Given the description of an element on the screen output the (x, y) to click on. 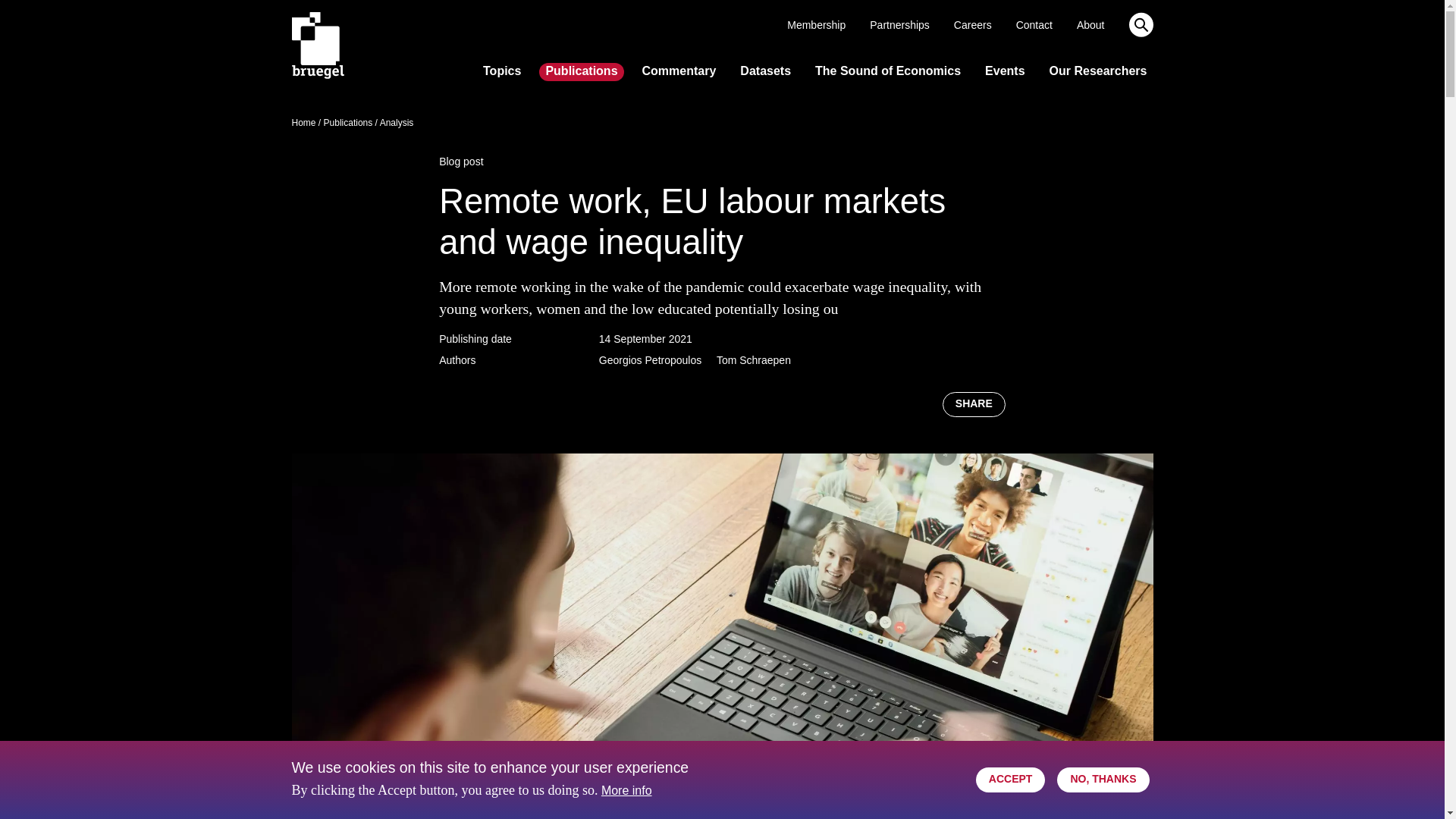
Careers (972, 25)
The Sound of Economics (887, 72)
Partnerships (899, 25)
Publications (580, 72)
Topics (502, 72)
Membership (815, 25)
Datasets (764, 72)
Events (1004, 72)
Commentary (679, 72)
About (1090, 25)
Contact (1034, 25)
Our Researchers (1098, 72)
Topics (502, 72)
